Given the description of an element on the screen output the (x, y) to click on. 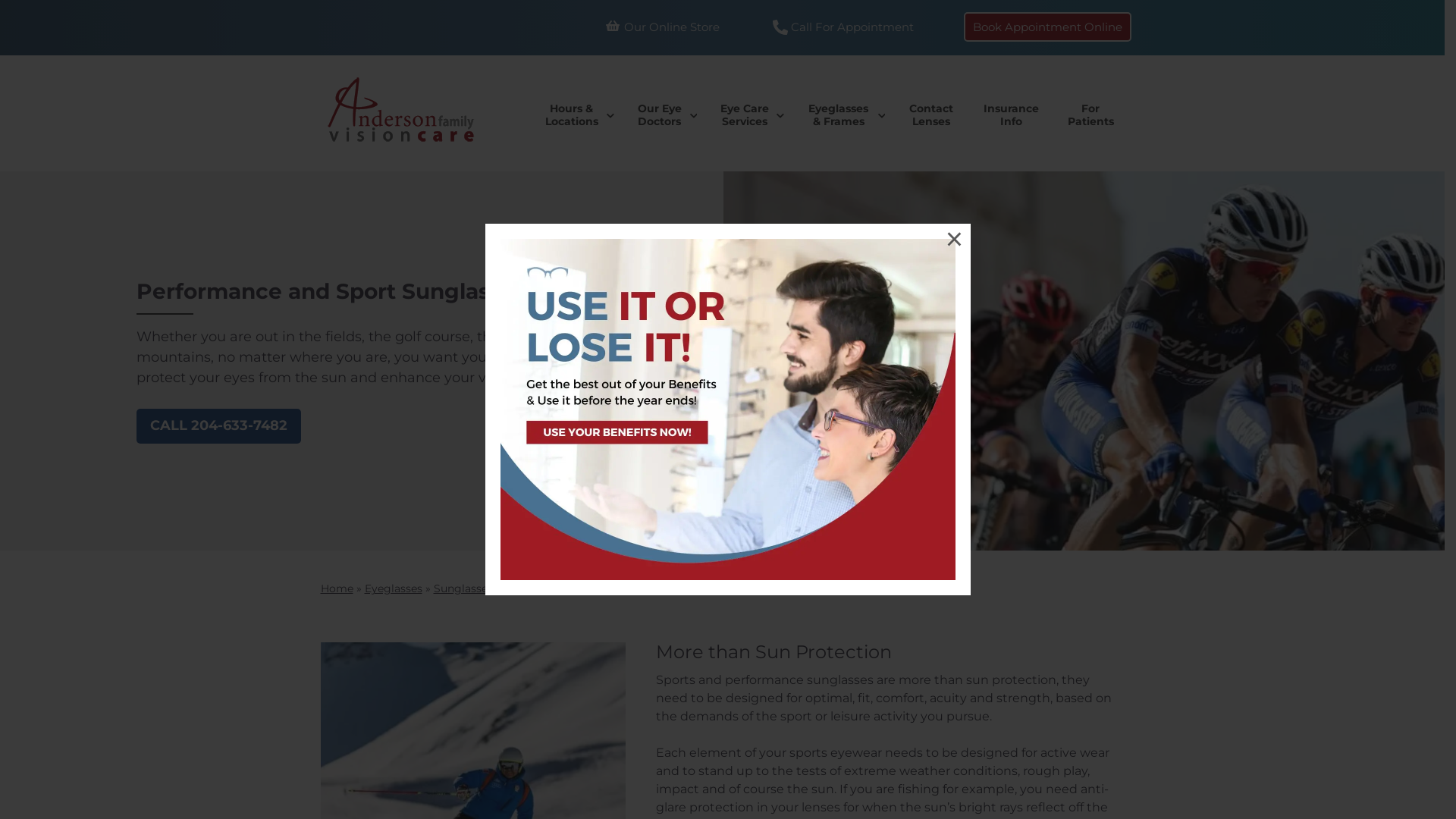
Our Online Store Element type: text (662, 26)
Eyeglasses & Frames Element type: text (842, 114)
Eye Care Services Element type: text (747, 114)
Contact Lenses Element type: text (930, 114)
Sunglasses Element type: text (462, 588)
Eyeglasses Element type: text (392, 588)
Hours & Locations Element type: text (574, 114)
Our Eye Doctors Element type: text (663, 114)
Insurance Info Element type: text (1011, 114)
For Patients Element type: text (1090, 114)
Home Element type: text (336, 588)
Book Appointment Online Element type: text (1047, 26)
CALL 204-633-7482 Element type: text (218, 425)
